Given the description of an element on the screen output the (x, y) to click on. 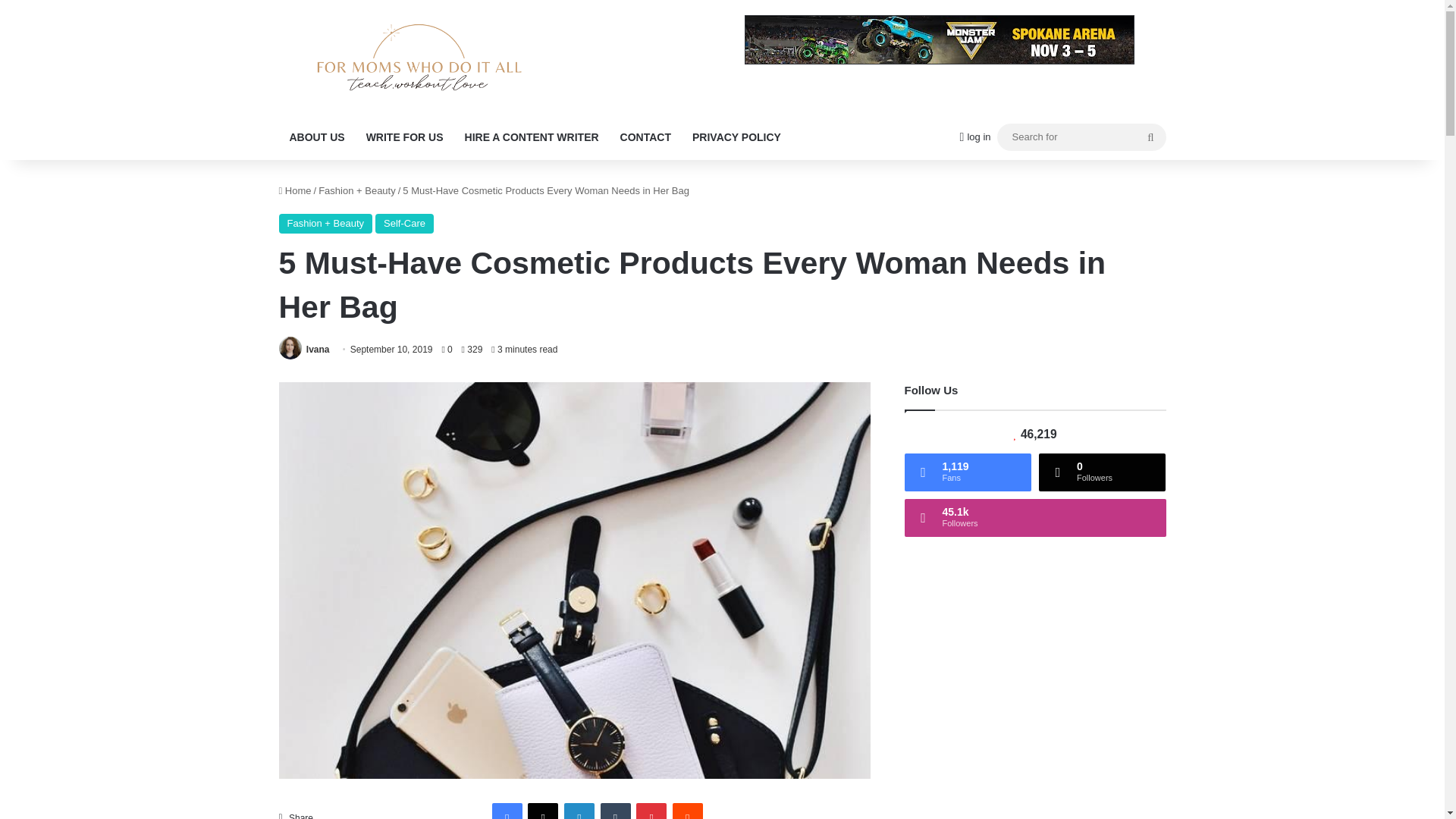
Reddit (687, 811)
Home (295, 190)
Teach.Workout.Love (419, 56)
LinkedIn (579, 811)
Tumblr (614, 811)
HIRE A CONTENT WRITER (532, 136)
Ivana (317, 348)
X (542, 811)
Search for (1080, 136)
WRITE FOR US (404, 136)
